Given the description of an element on the screen output the (x, y) to click on. 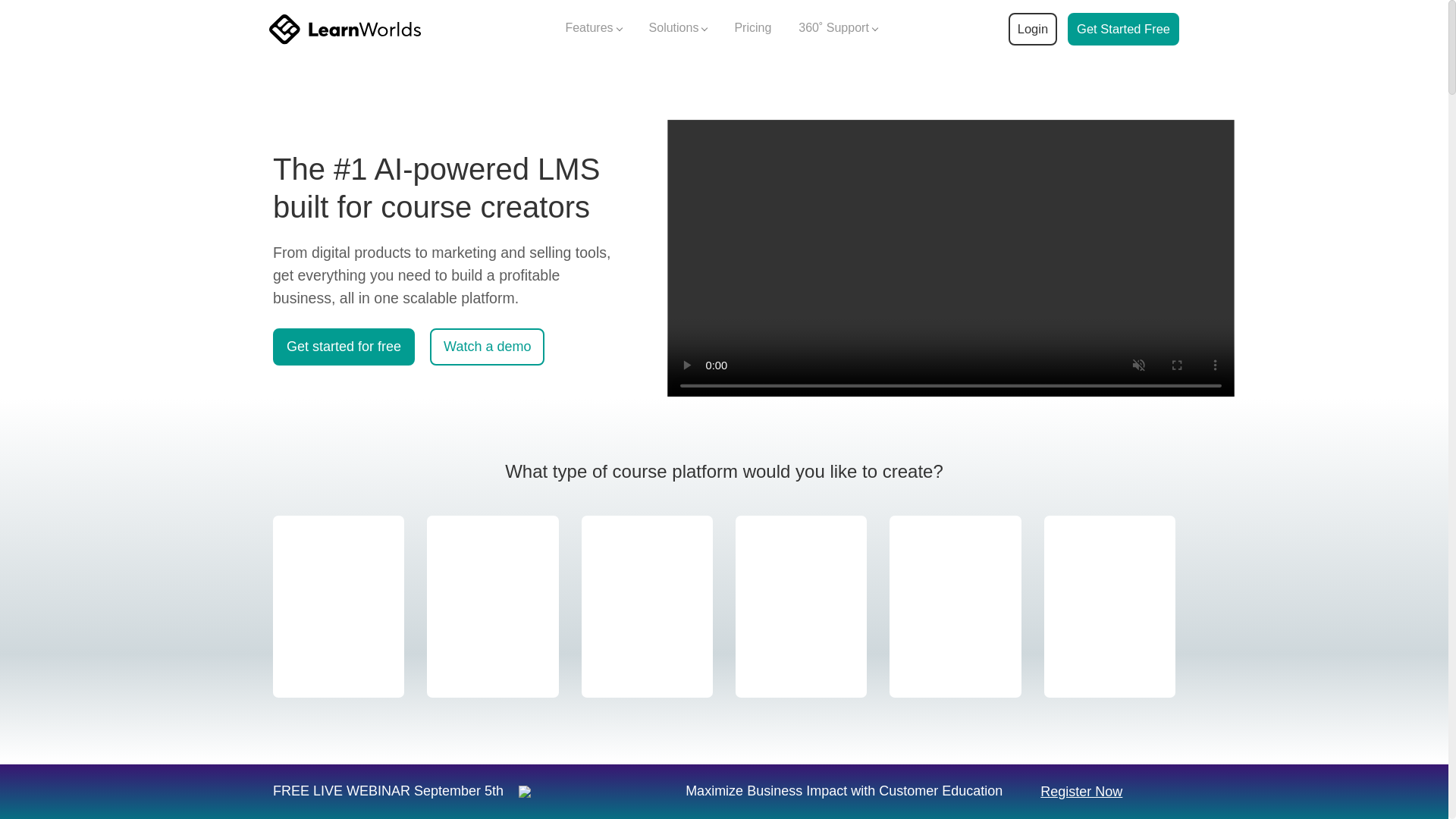
Start your demo with LearnWorlds (1123, 29)
Features (592, 29)
LearnWorlds home (344, 28)
Login to your LearnWorlds account (1032, 29)
